Given the description of an element on the screen output the (x, y) to click on. 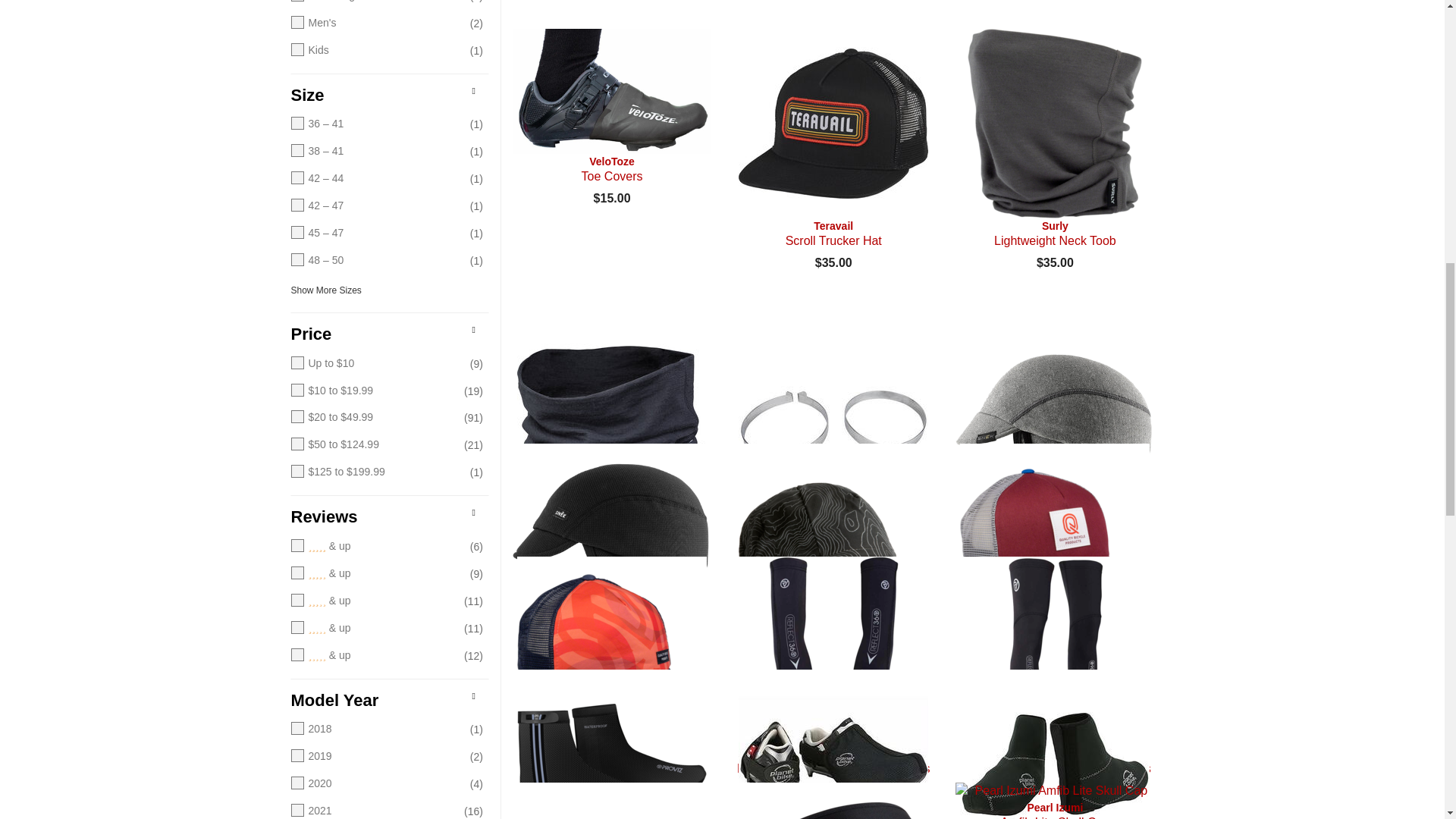
4 (374, 573)
5 (374, 546)
2 (374, 628)
3 (374, 601)
1 (374, 655)
